Given the description of an element on the screen output the (x, y) to click on. 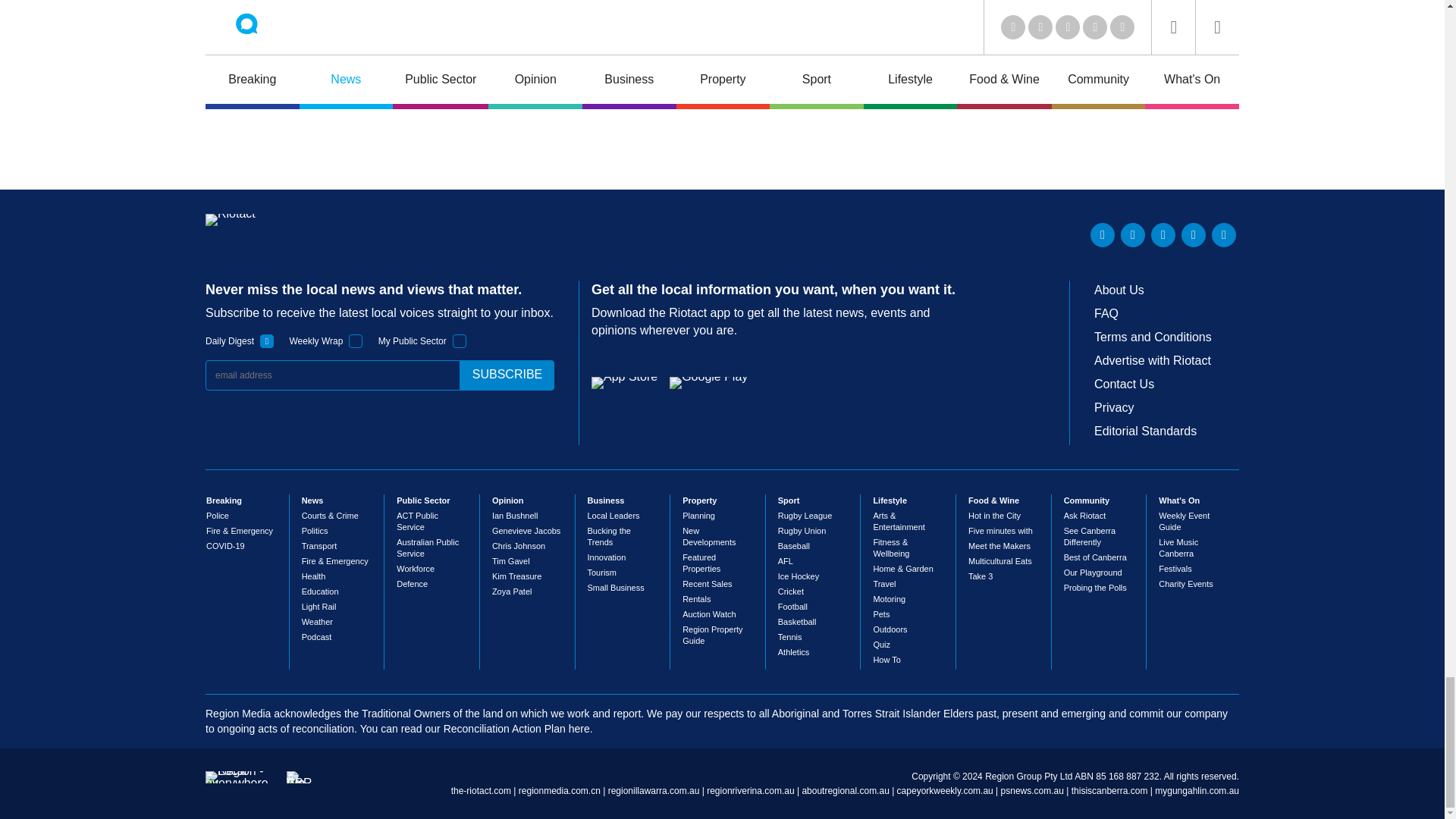
Facebook (1192, 234)
Youtube (1162, 234)
subscribe (507, 375)
1 (266, 341)
App Store (624, 382)
Twitter (1132, 234)
1 (355, 341)
Instagram (1223, 234)
LinkedIn (1102, 234)
1 (458, 341)
